Given the description of an element on the screen output the (x, y) to click on. 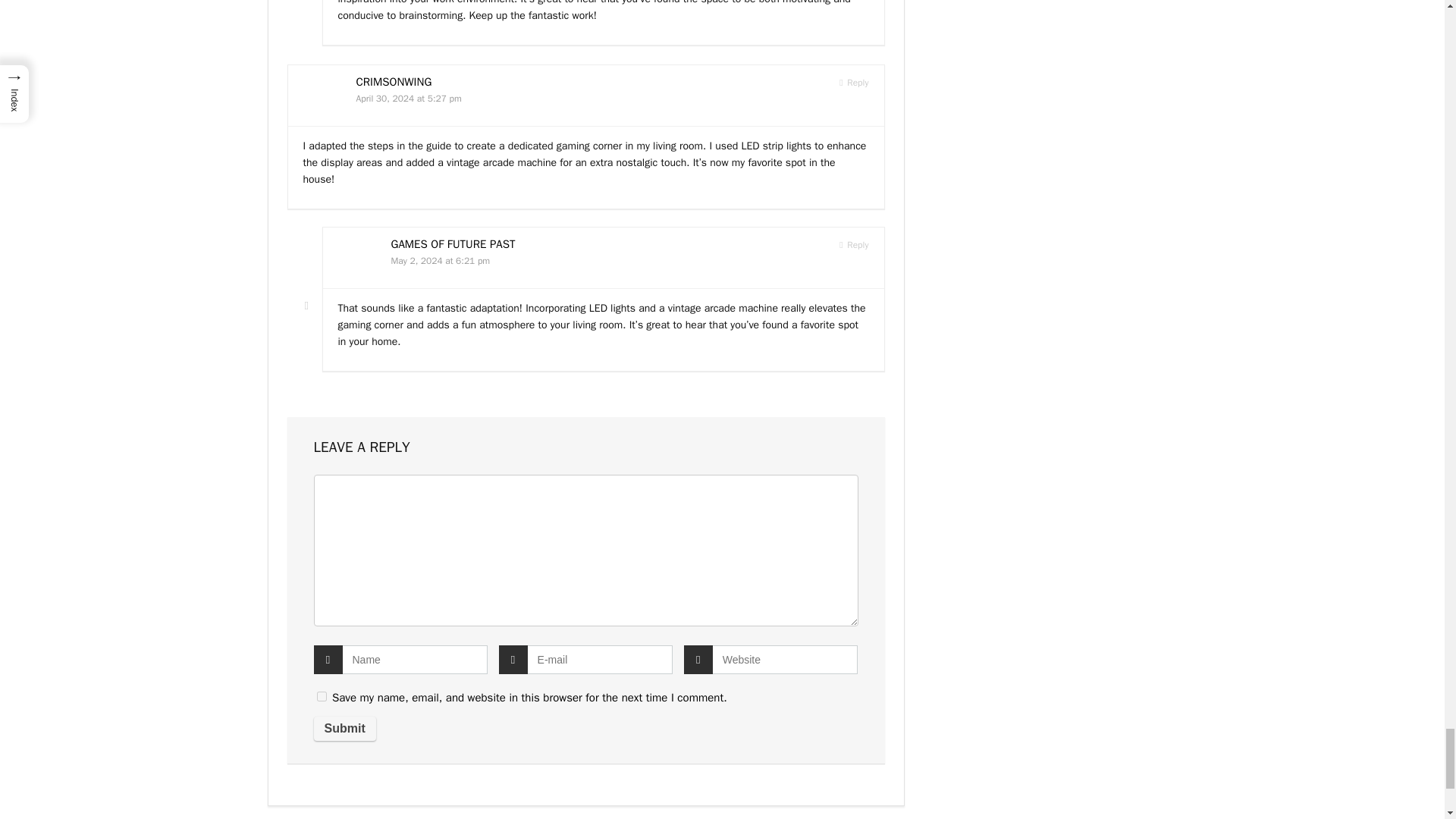
yes (321, 696)
Submit (344, 728)
